Given the description of an element on the screen output the (x, y) to click on. 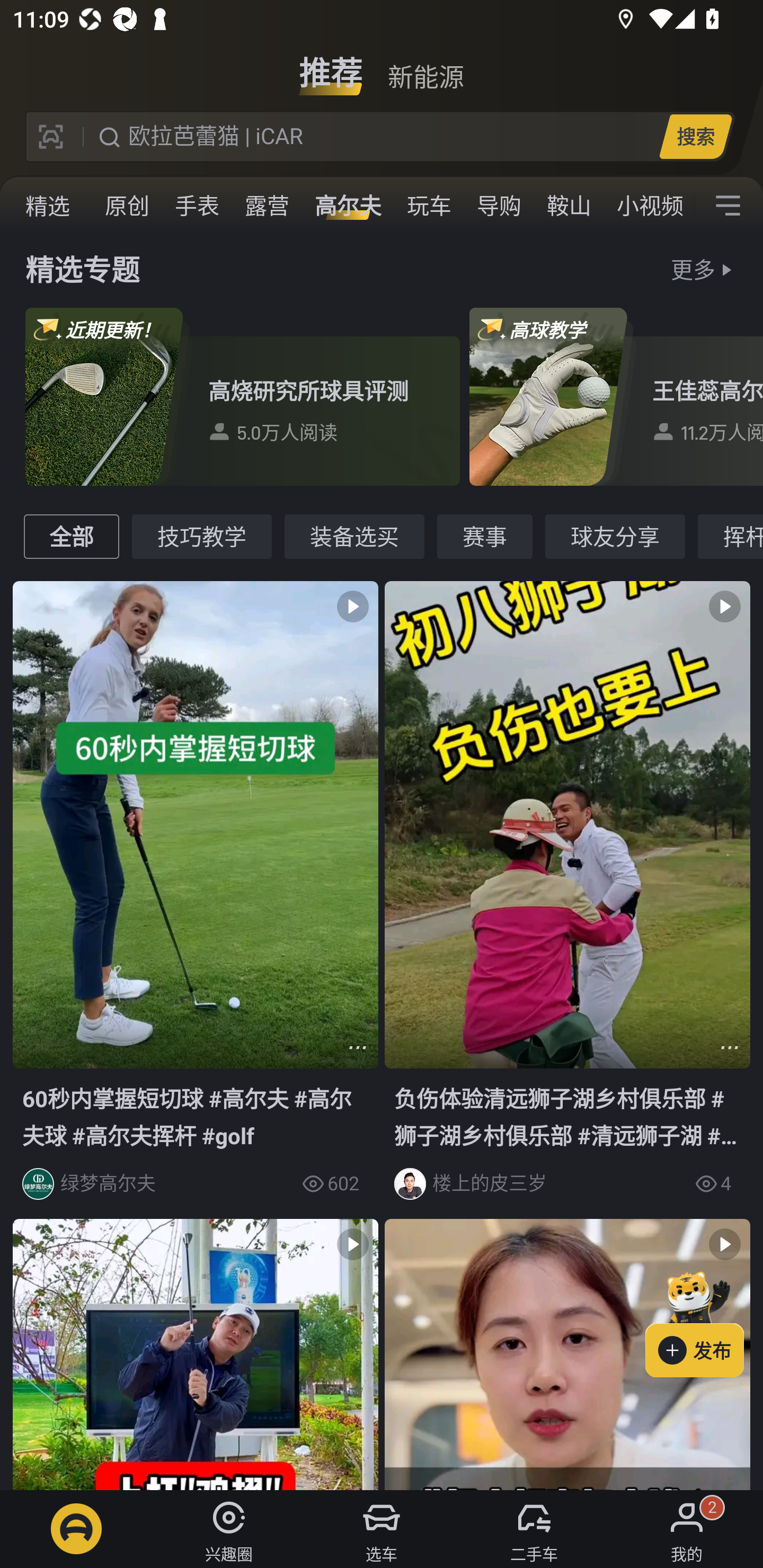
推荐 (330, 65)
新能源 (425, 65)
搜索 (695, 136)
自行车 (46, 205)
原创 (126, 205)
手表 (196, 205)
露营 (266, 205)
高尔夫 (348, 205)
玩车 (428, 205)
导购 (498, 205)
鞍山 (569, 205)
小视频 (649, 205)
 (727, 205)
更多  (703, 268)
近期更新！ 高烧研究所球具评测  5.0万人阅读 (242, 396)
高球教学 王佳蕊高尔夫教学  11.2万人阅读 (616, 396)
全部 (71, 536)
技巧教学 (201, 536)
装备选买 (354, 536)
赛事 (484, 536)
球友分享 (615, 536)
 (357, 1047)
 (729, 1047)
 (195, 1353)
 (567, 1353)
发布 (704, 1320)
 兴趣圈 (228, 1528)
 选车 (381, 1528)
 二手车 (533, 1528)
 我的 (686, 1528)
